Given the description of an element on the screen output the (x, y) to click on. 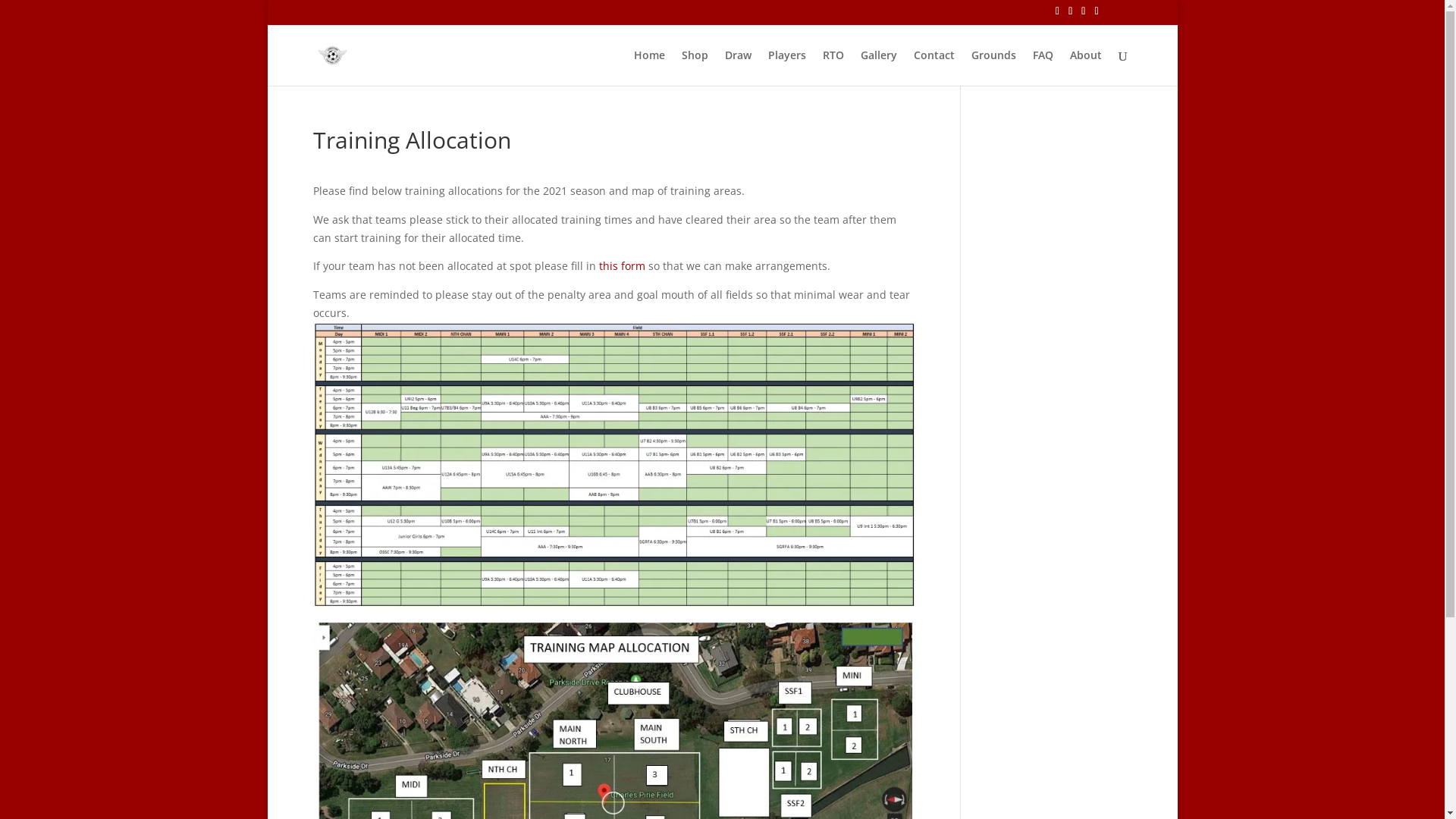
About Element type: text (1085, 67)
Draw Element type: text (737, 67)
RTO Element type: text (832, 67)
Contact Element type: text (933, 67)
this form Element type: text (622, 265)
FAQ Element type: text (1042, 67)
Players Element type: text (786, 67)
Grounds Element type: text (992, 67)
Gallery Element type: text (877, 67)
Shop Element type: text (693, 67)
Home Element type: text (649, 67)
